Given the description of an element on the screen output the (x, y) to click on. 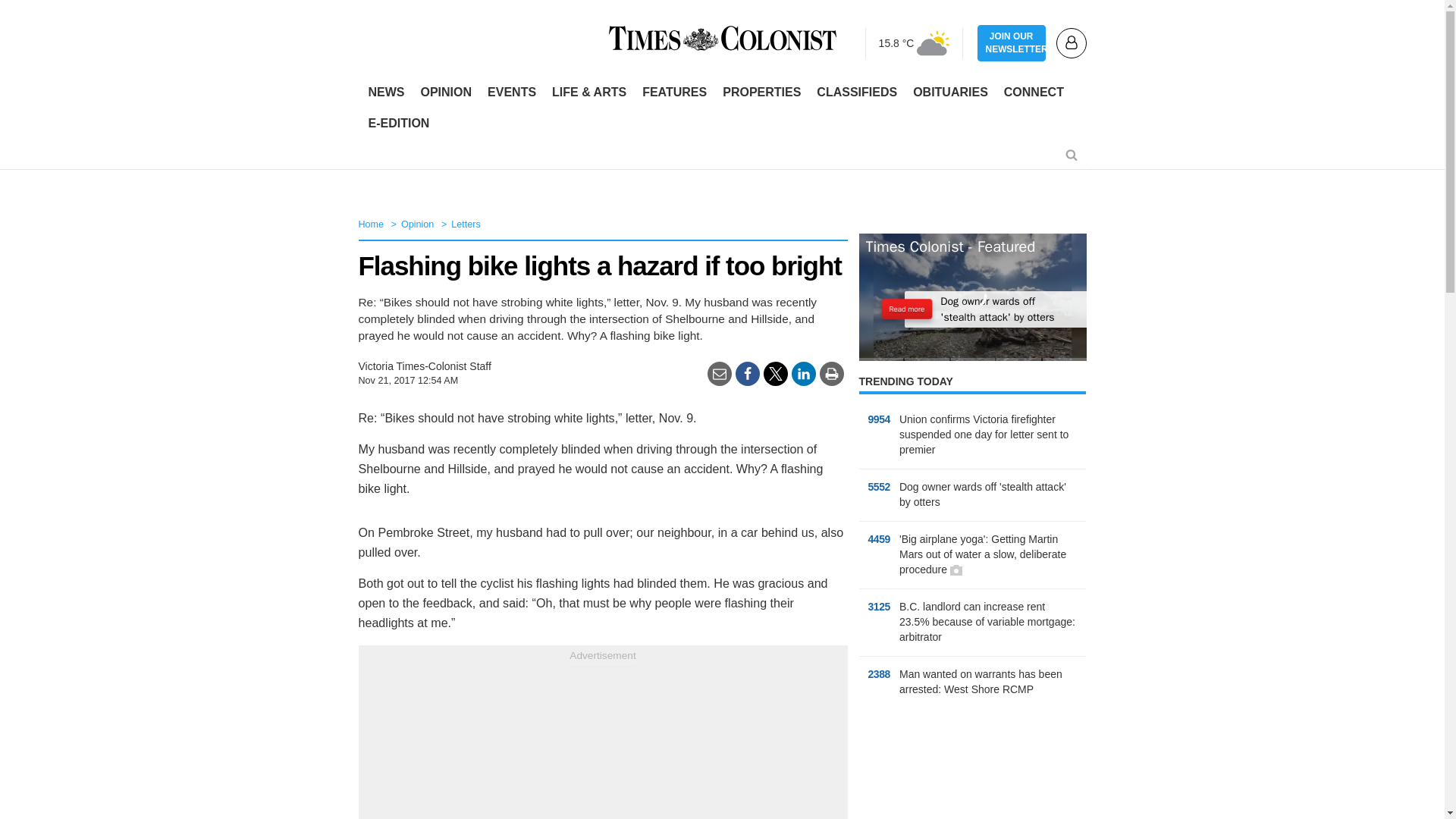
OPINION (445, 92)
NEWS (386, 92)
Has a gallery (956, 570)
EVENTS (511, 92)
JOIN OUR NEWSLETTER (1010, 43)
